Given the description of an element on the screen output the (x, y) to click on. 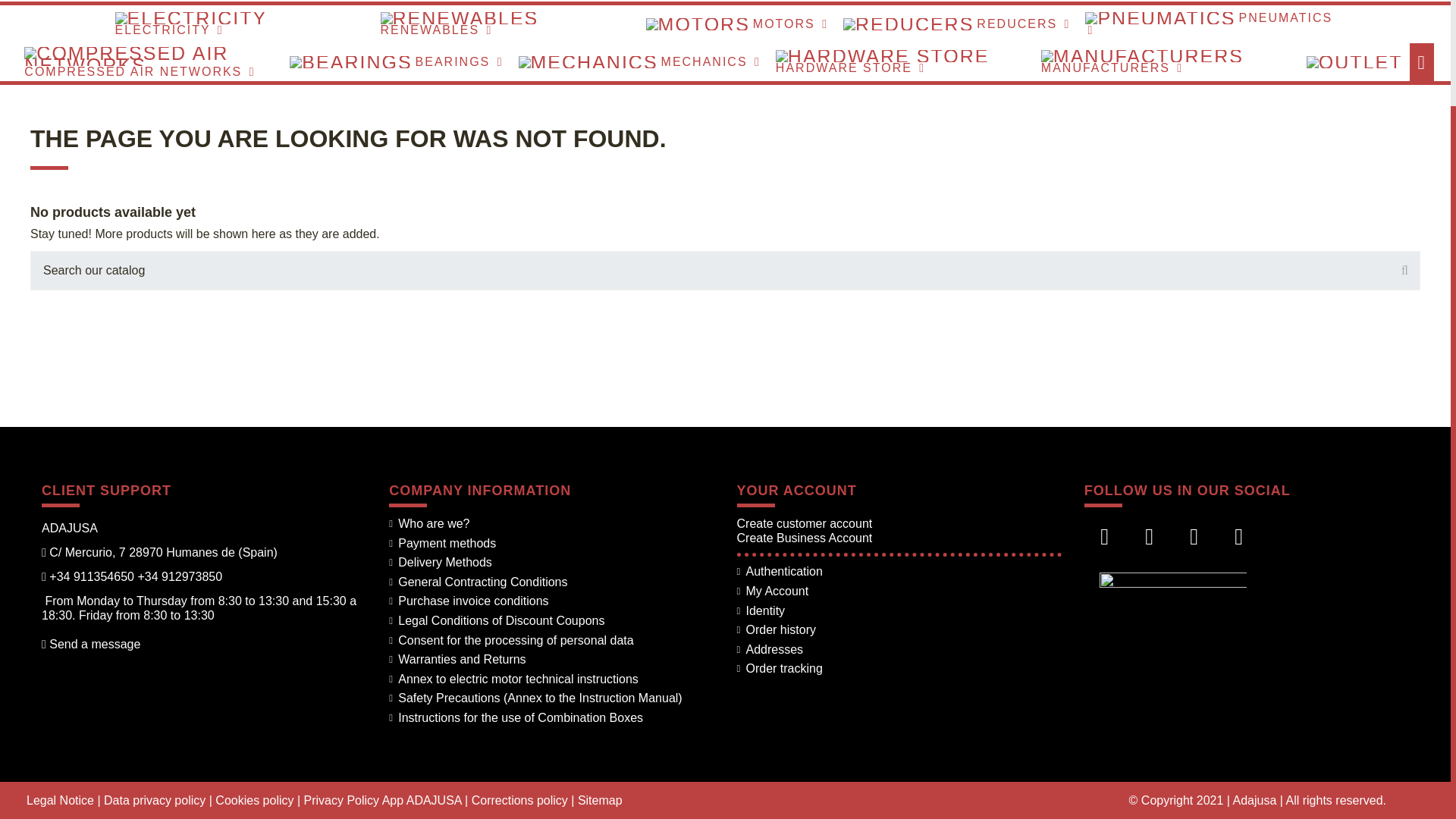
Legal Conditions of Discount Coupons (496, 620)
Learn more about us (428, 523)
Forms-of-payment-adajusa (442, 543)
Annex to the technical instructions for electric motors (513, 678)
General Terms and Conditions (477, 581)
Delivery Methods (440, 562)
ELECTRICITY (239, 23)
